Given the description of an element on the screen output the (x, y) to click on. 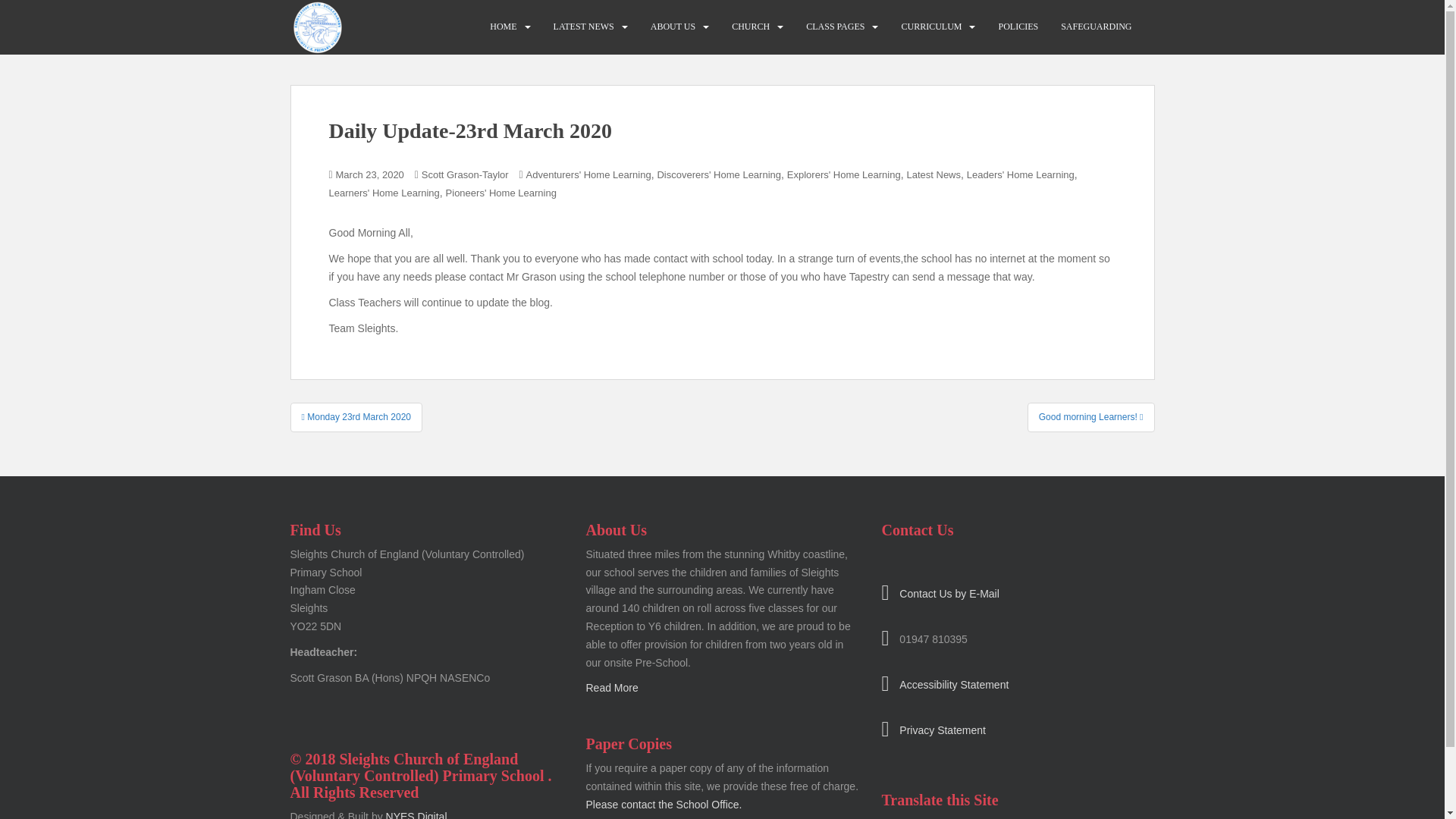
LATEST NEWS (583, 26)
ABOUT US (672, 26)
CLASS PAGES (835, 26)
CHURCH (751, 26)
